Given the description of an element on the screen output the (x, y) to click on. 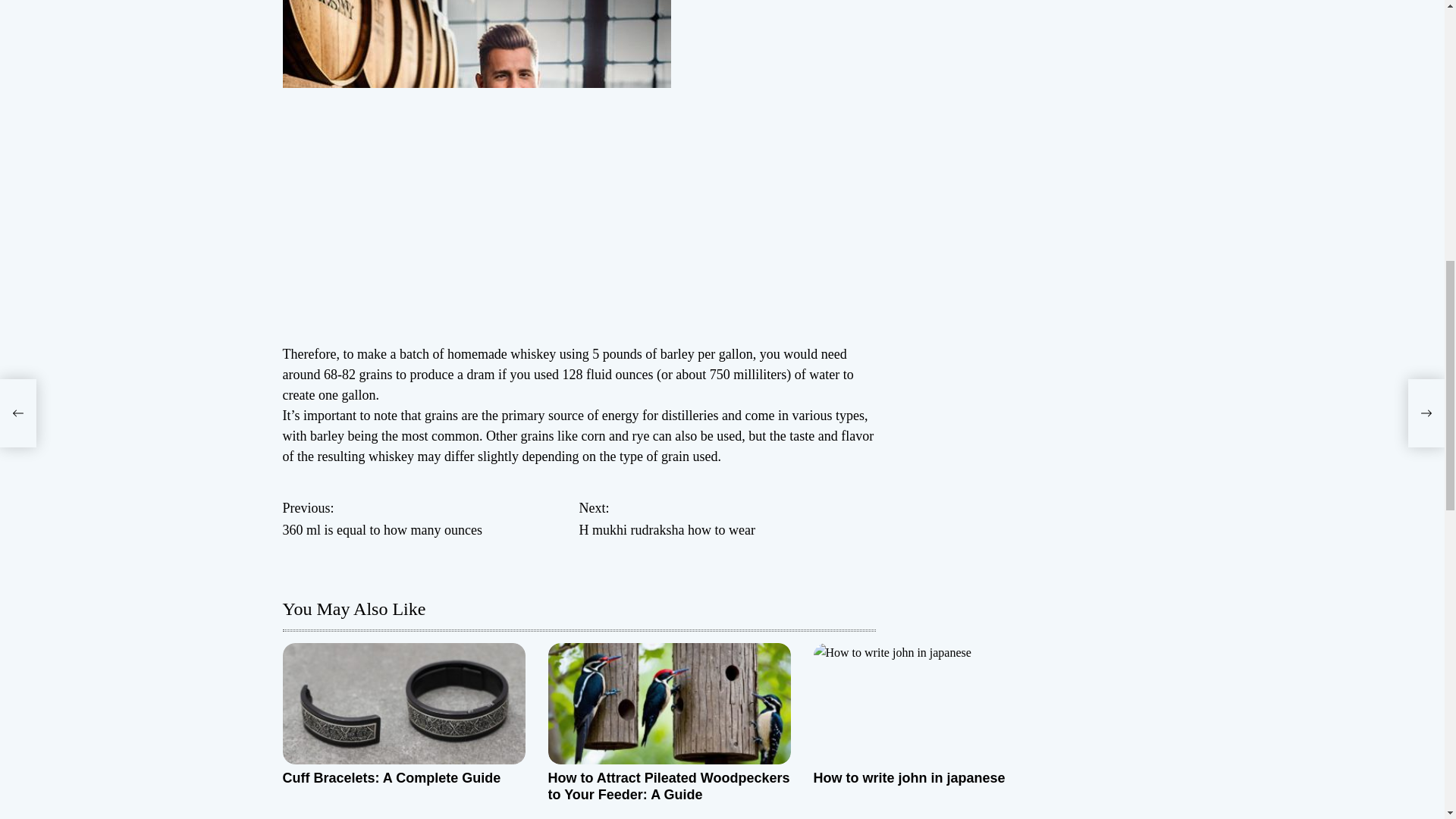
How to write john in japanese (727, 519)
Cuff Bracelets: A Complete Guide (908, 777)
How to Attract Pileated Woodpeckers to Your Feeder: A Guide (391, 777)
